Given the description of an element on the screen output the (x, y) to click on. 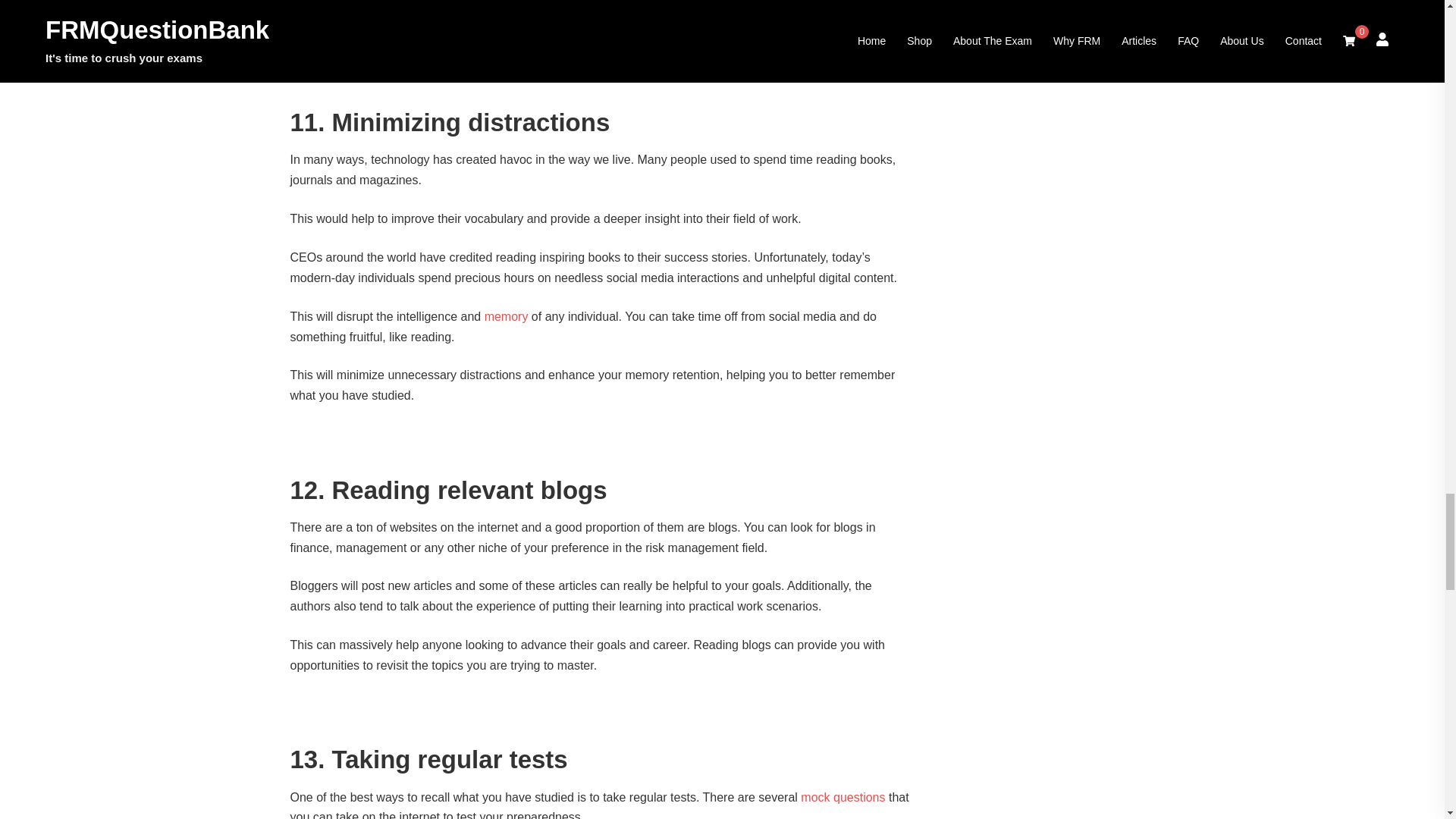
memory (506, 316)
mock questions (842, 797)
